Given the description of an element on the screen output the (x, y) to click on. 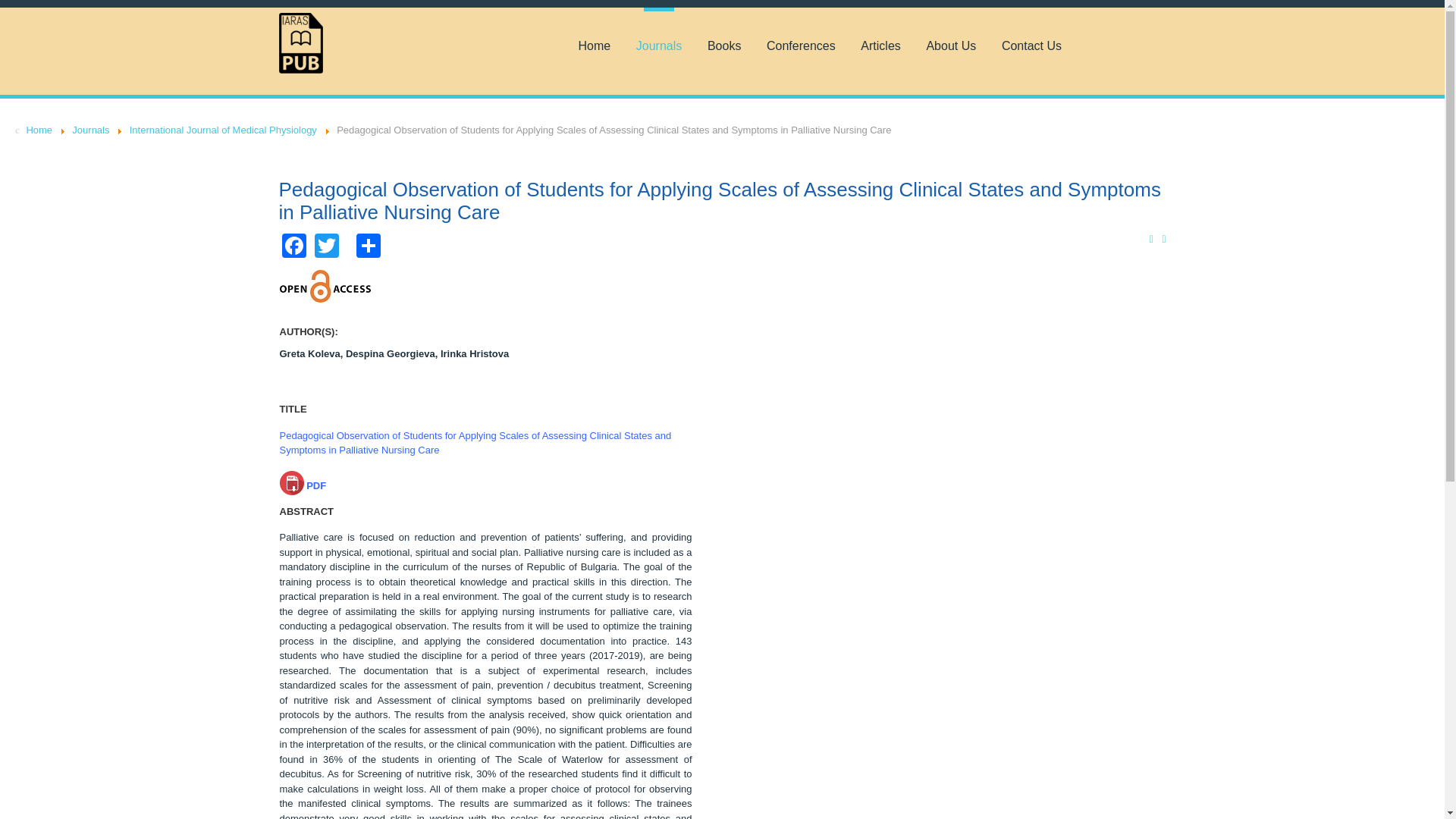
Journals (90, 129)
Journals (658, 45)
Articles (880, 45)
Books (724, 45)
Home (593, 45)
Conferences (800, 45)
Twitter (326, 243)
About Us (951, 45)
Home (39, 129)
Facebook (293, 243)
 PDF (302, 485)
Contact Us (1031, 45)
International Journal of Medical Physiology (223, 129)
